Given the description of an element on the screen output the (x, y) to click on. 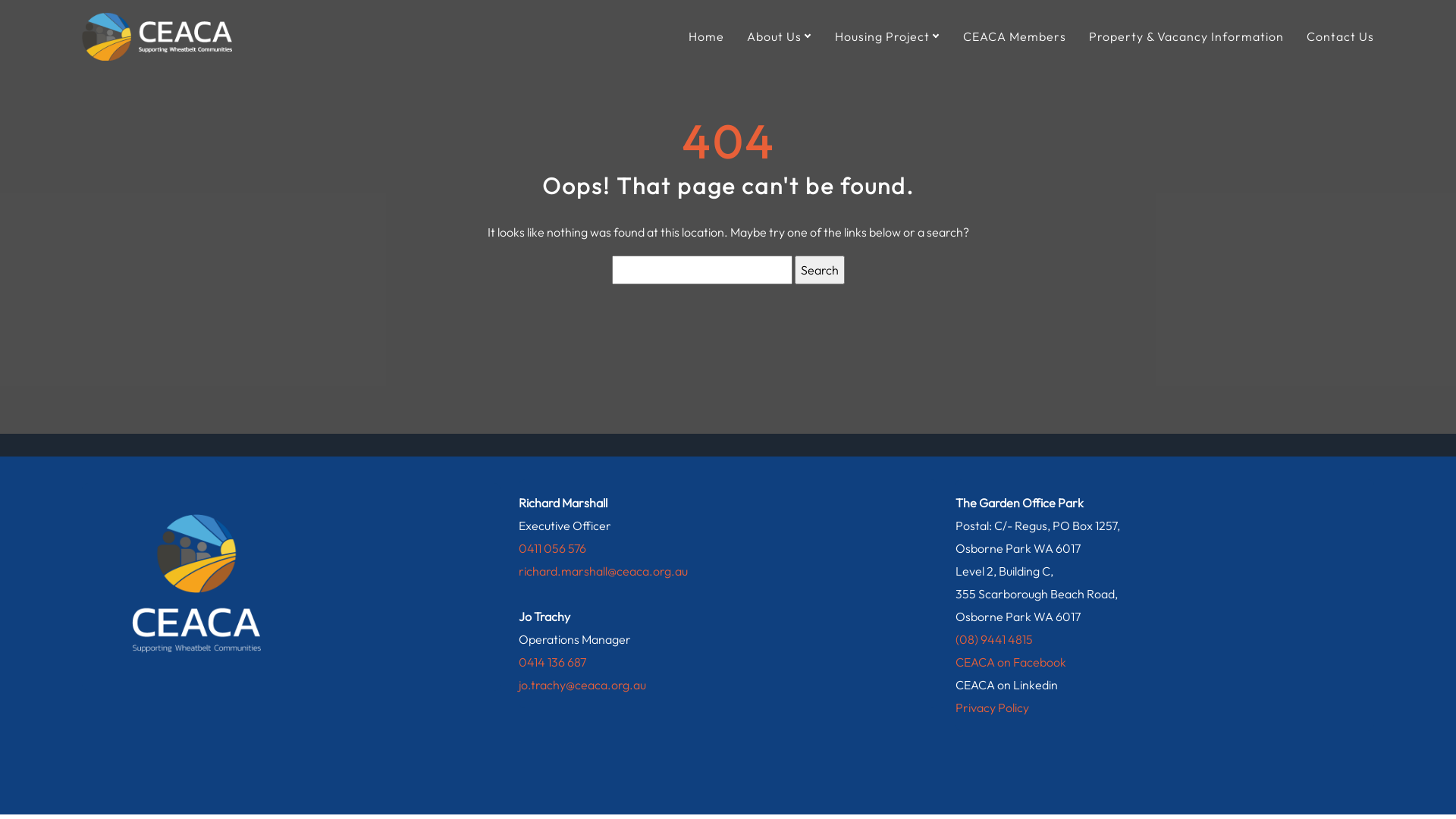
Housing Project Element type: text (887, 36)
Privacy Policy Element type: text (992, 707)
Home Element type: text (706, 36)
Contact Us Element type: text (1340, 36)
Property & Vacancy Information Element type: text (1185, 36)
(08) 9441 4815 Element type: text (993, 638)
CEACA Members Element type: text (1014, 36)
richard.marshall@ceaca.org.au Element type: text (602, 570)
About Us Element type: text (779, 36)
0414 136 687 Element type: text (552, 661)
Search Element type: text (819, 269)
0411 056 576 Element type: text (552, 547)
CEACA on Facebook Element type: text (1010, 661)
jo.trachy@ceaca.org.au Element type: text (582, 684)
